Given the description of an element on the screen output the (x, y) to click on. 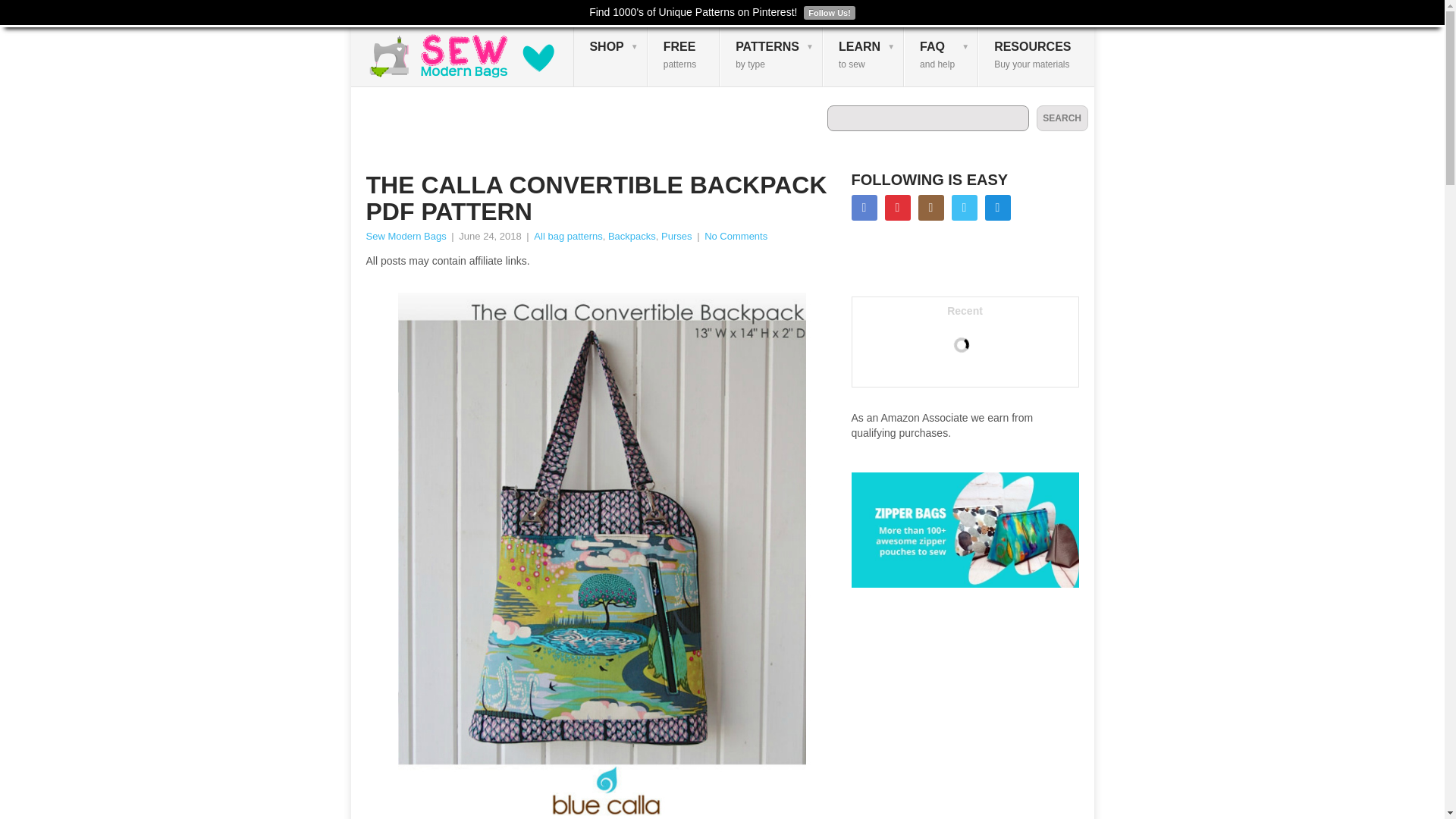
No Comments (735, 235)
All bag patterns (568, 235)
Backpacks (941, 55)
Posts by Sew Modern Bags (683, 55)
Sew Modern Bags (632, 235)
SHOP (405, 235)
